Given the description of an element on the screen output the (x, y) to click on. 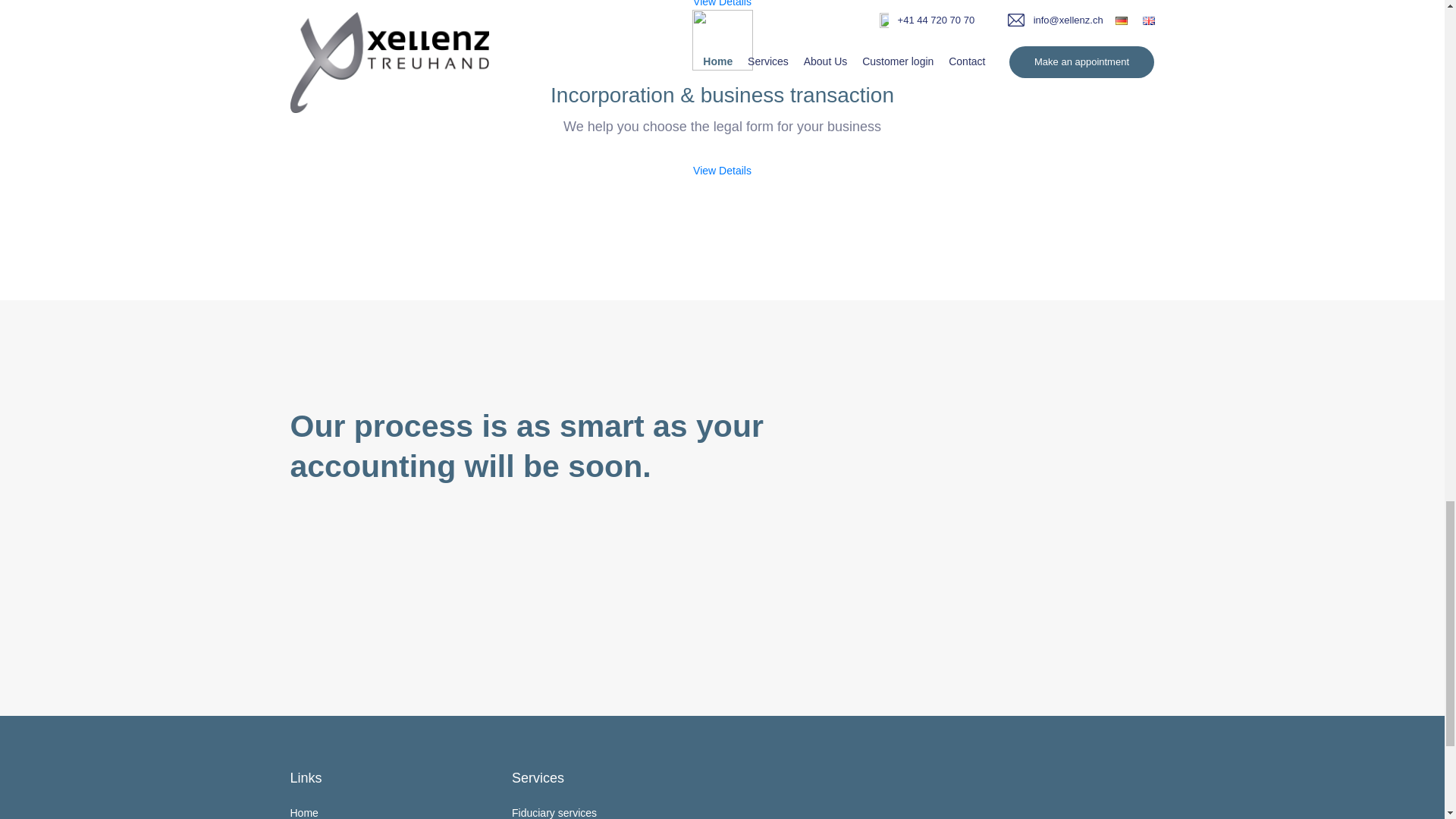
Home (303, 812)
View Details (722, 170)
Fiduciary services (554, 812)
View Details (722, 3)
